Given the description of an element on the screen output the (x, y) to click on. 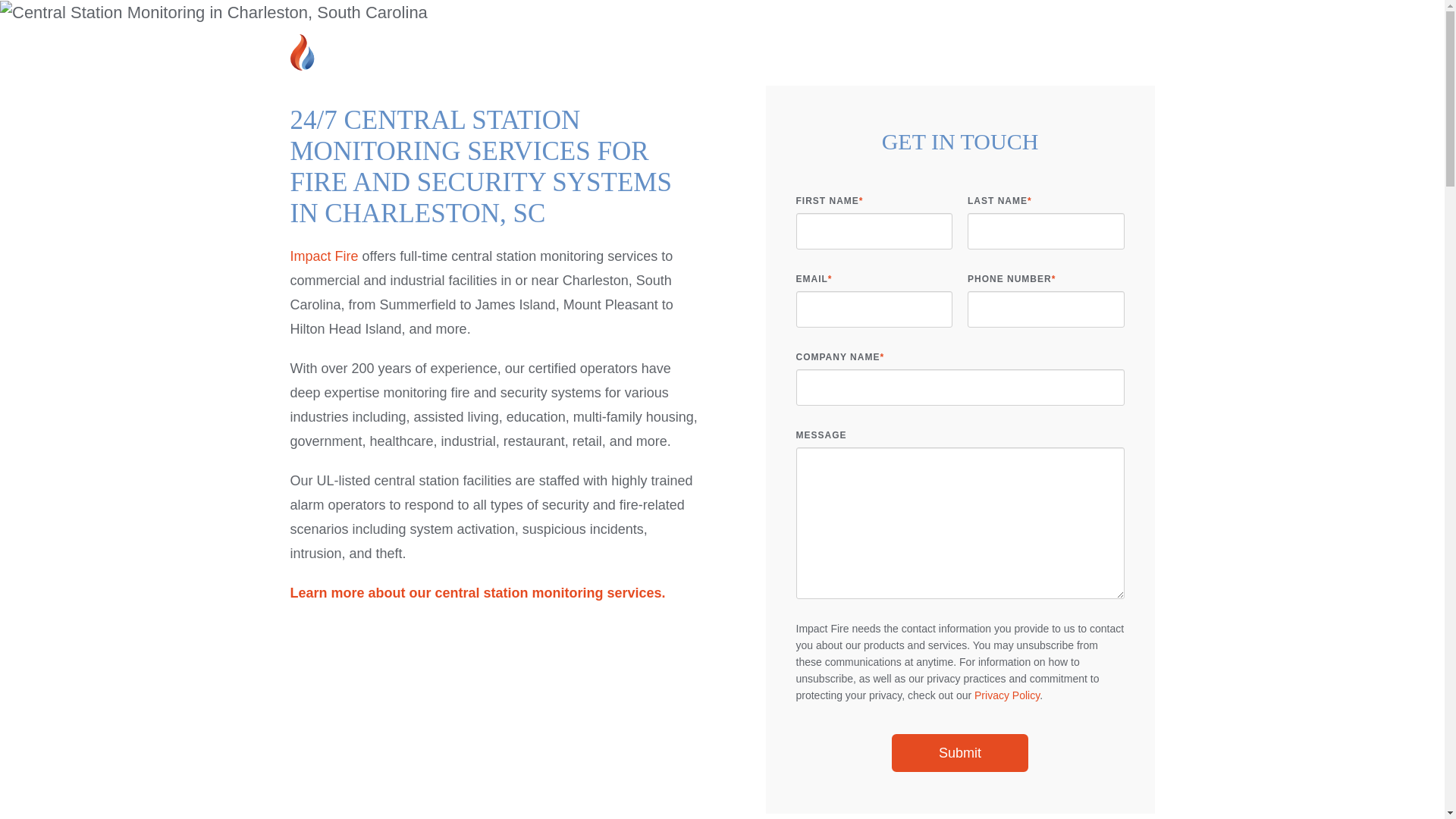
Submit (959, 752)
RESOURCES (1094, 71)
INDUSTRIES (976, 71)
LOCATIONS (869, 15)
ABOUT US (673, 71)
CONTACT US (976, 15)
CAREERS (772, 15)
PAY YOUR BILL (1094, 15)
